Given the description of an element on the screen output the (x, y) to click on. 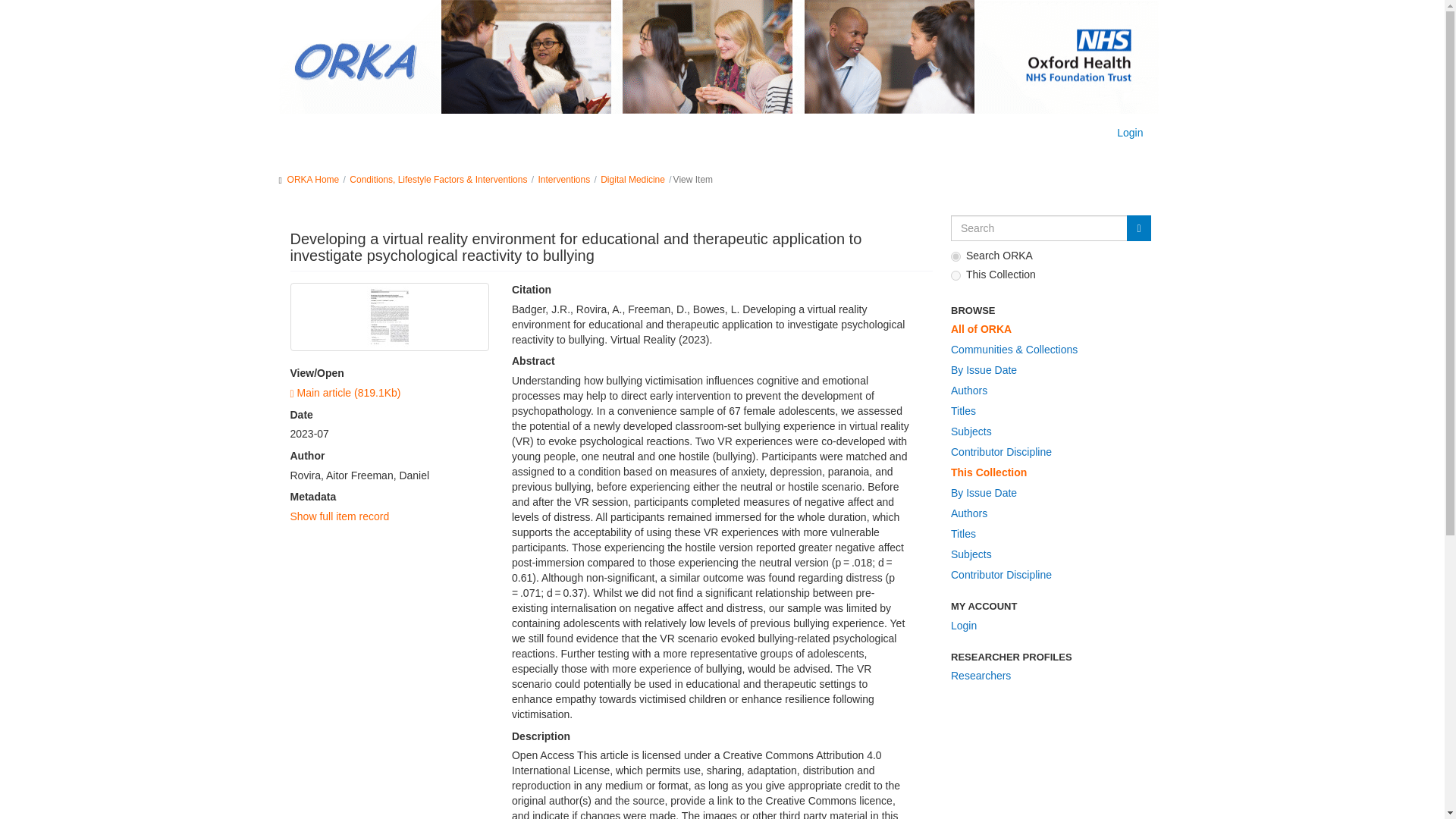
Titles (1047, 534)
Subjects (1047, 432)
This Collection (1047, 473)
Interventions (563, 179)
Titles (1047, 411)
All of ORKA (1047, 329)
Subjects (1047, 554)
By Issue Date (1047, 493)
Go (1138, 227)
Login (1129, 132)
